Given the description of an element on the screen output the (x, y) to click on. 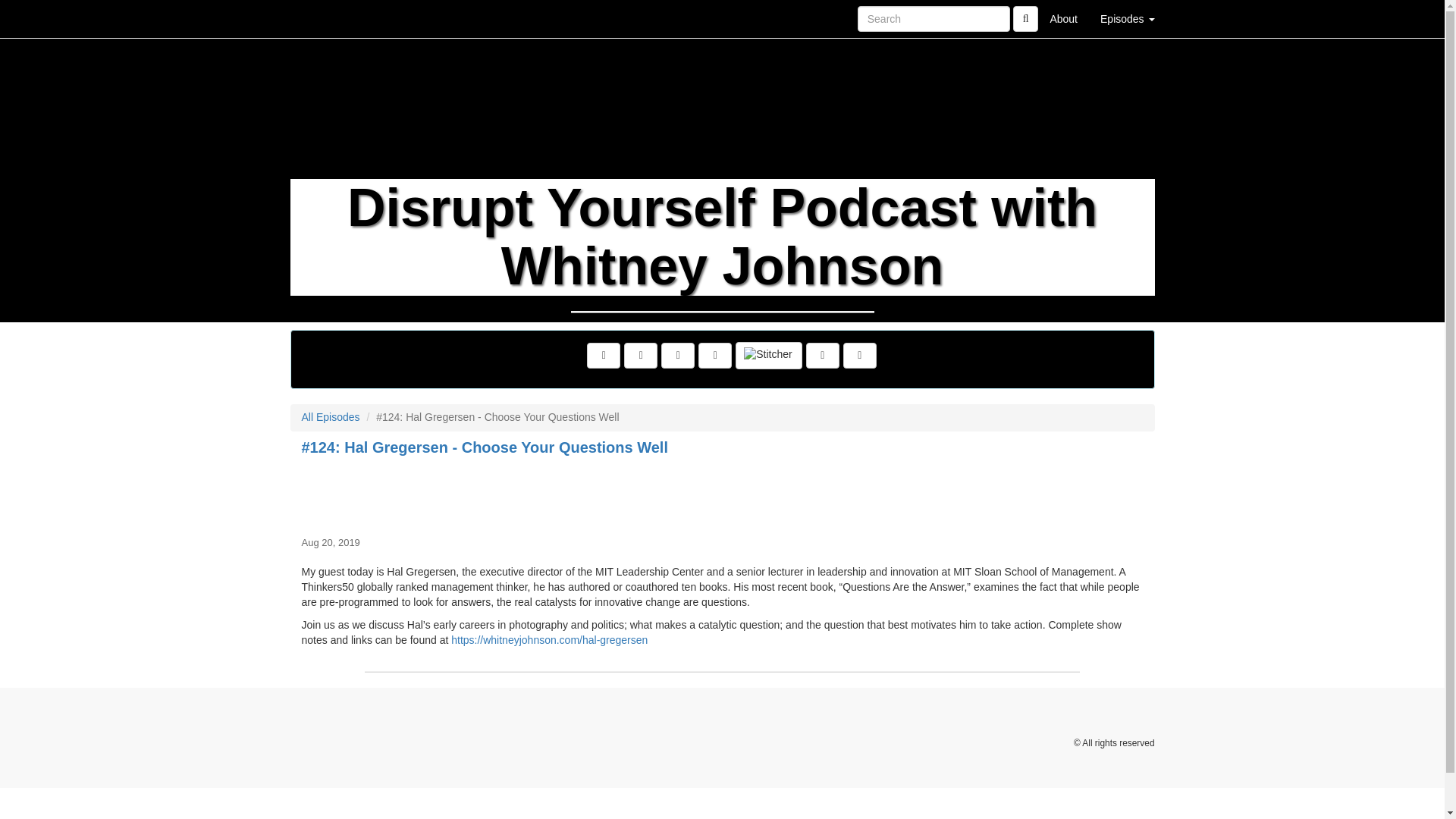
Subscribe to RSS Feed (677, 355)
Listen on Spotify (823, 355)
About (1063, 18)
View Our LinkedIn Page (641, 355)
Home Page (320, 18)
Visit Us on Twitter (603, 355)
Listen on Apple Podcasts (715, 355)
Go To YouTube Channel (859, 355)
Episodes (1127, 18)
Listen on Stitcher (768, 355)
